Given the description of an element on the screen output the (x, y) to click on. 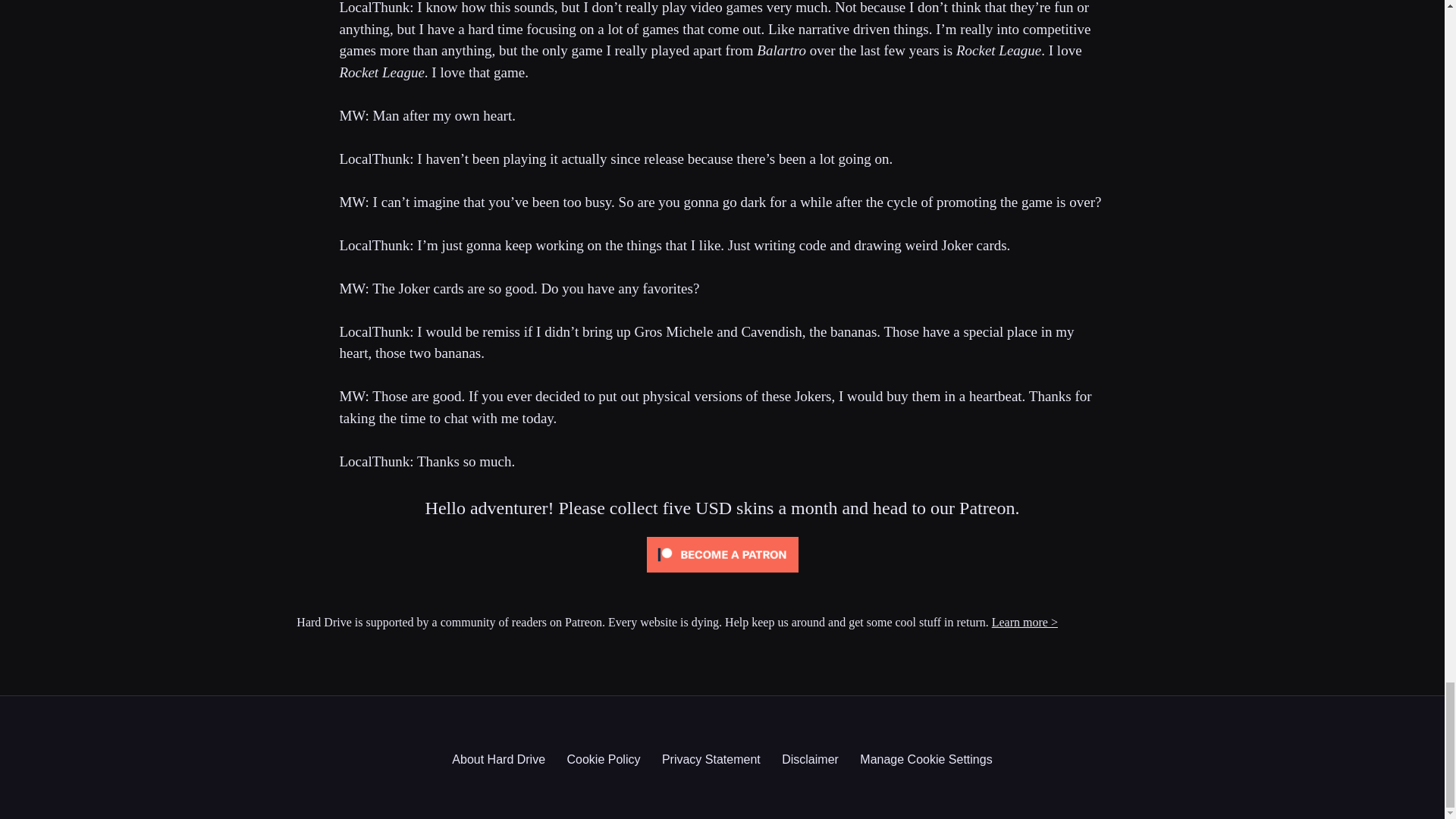
About Hard Drive (497, 758)
Cookie Policy (603, 758)
